Given the description of an element on the screen output the (x, y) to click on. 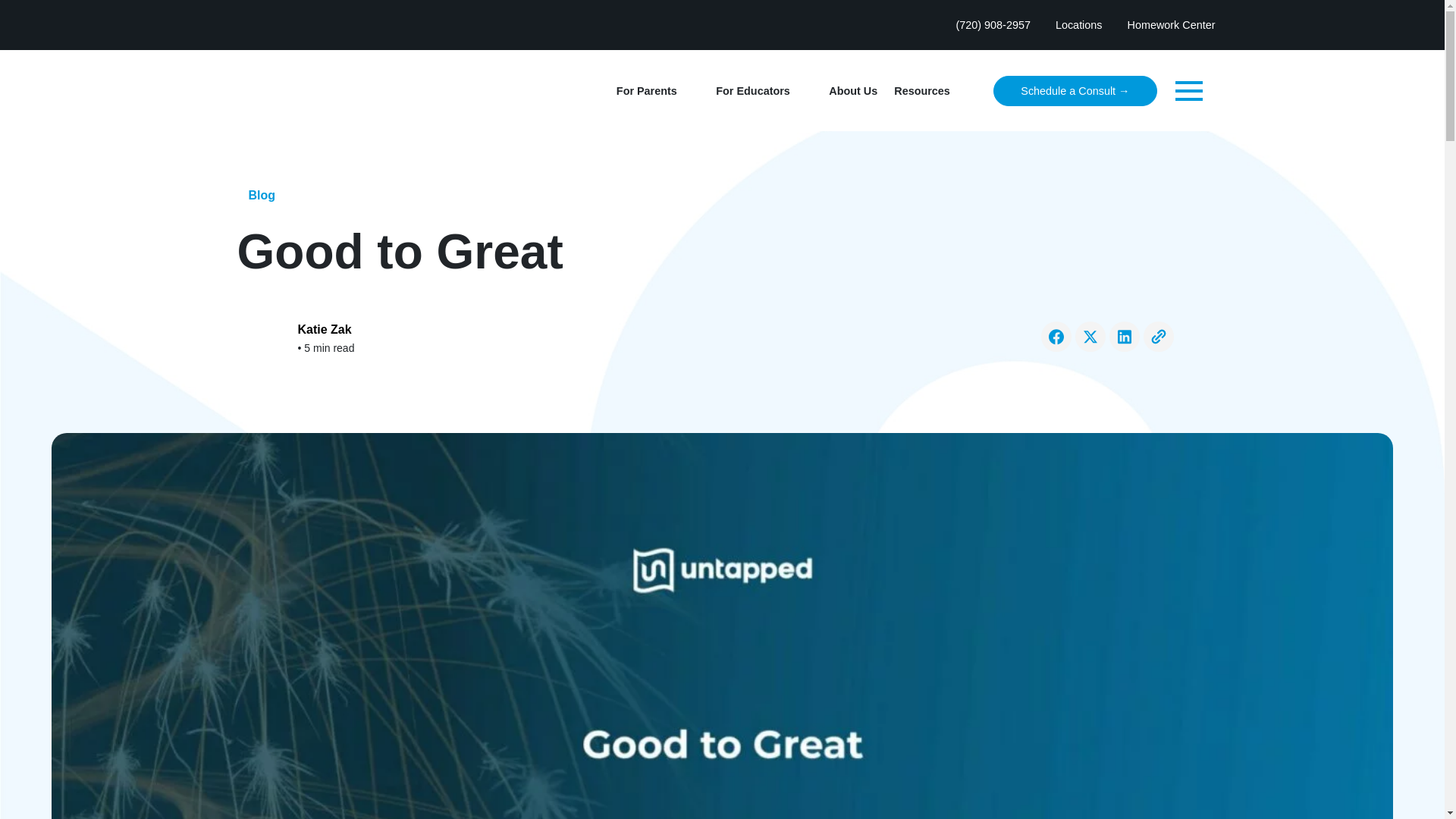
LinkedIn (1123, 336)
Homework Center (1166, 24)
About Us (850, 90)
For Parents (643, 90)
Menu (1188, 89)
Locations (1073, 24)
For Educators (750, 90)
Resources (919, 90)
Facebook (1055, 336)
View all posts by Katie Zak (323, 328)
